Given the description of an element on the screen output the (x, y) to click on. 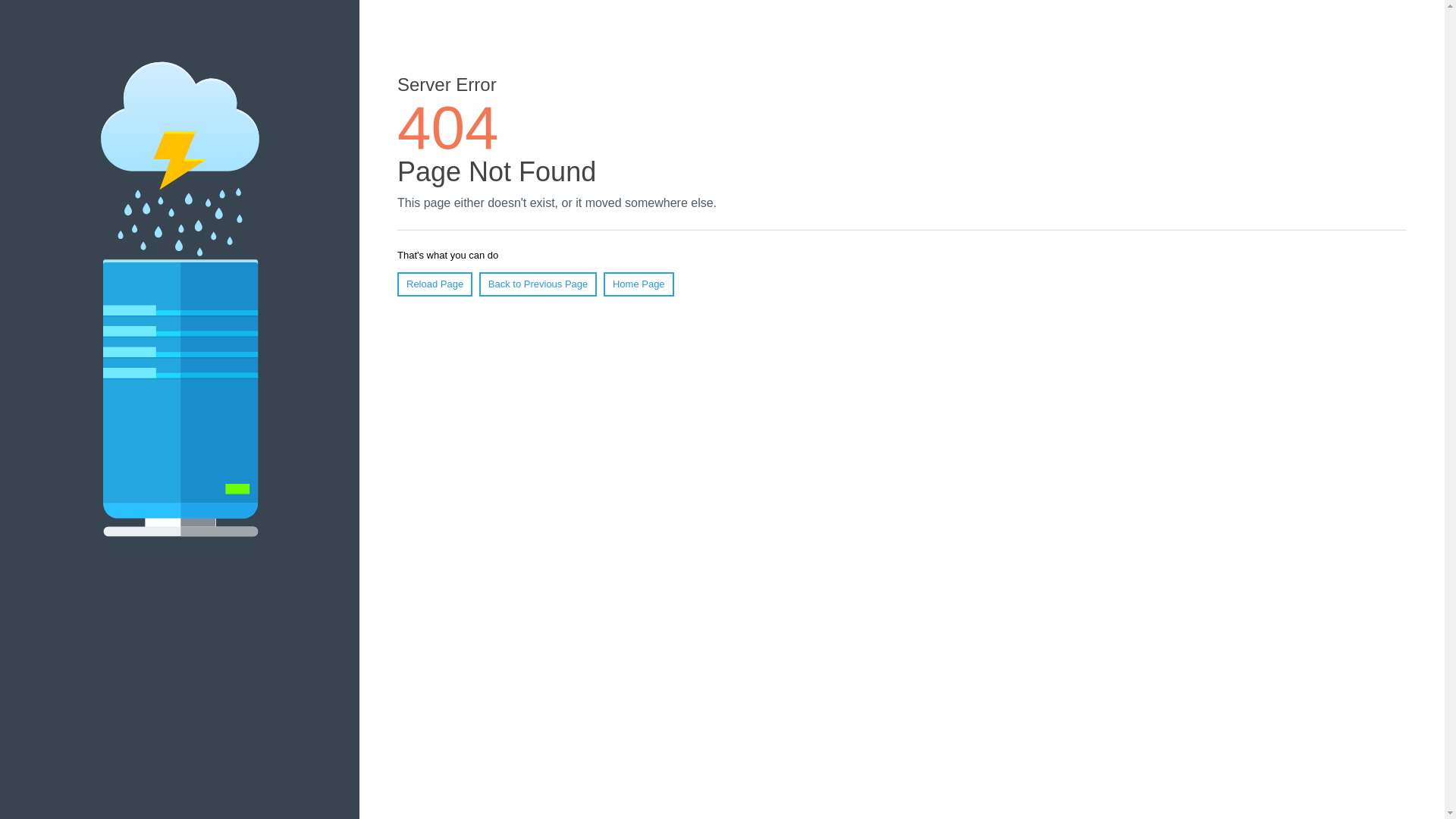
Back to Previous Page Element type: text (538, 284)
Reload Page Element type: text (434, 284)
Home Page Element type: text (638, 284)
